Given the description of an element on the screen output the (x, y) to click on. 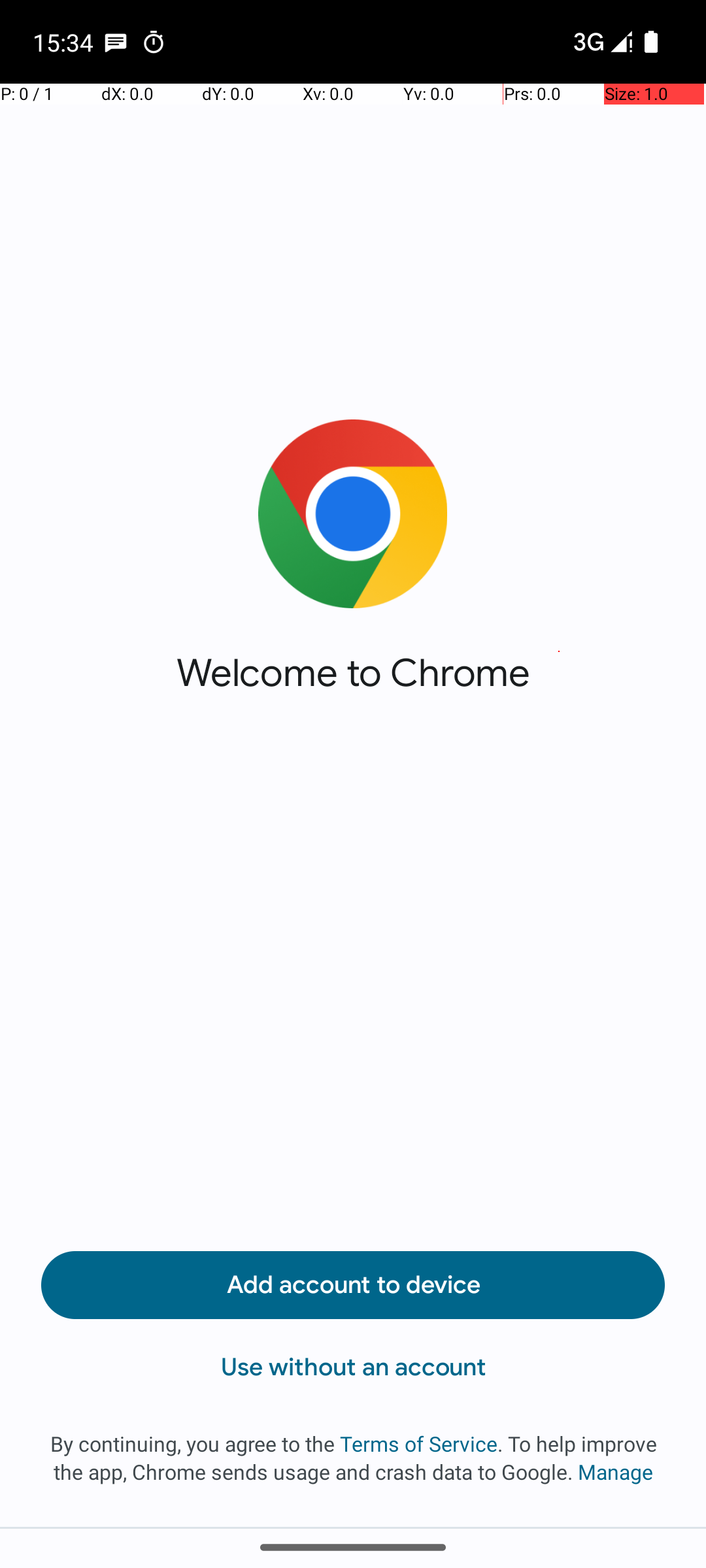
By continuing, you agree to the Terms of Service. To help improve the app, Chrome sends usage and crash data to Google. Manage Element type: android.widget.TextView (352, 1457)
Add account to device Element type: android.widget.Button (352, 1284)
Use without an account Element type: android.widget.Button (352, 1367)
